Given the description of an element on the screen output the (x, y) to click on. 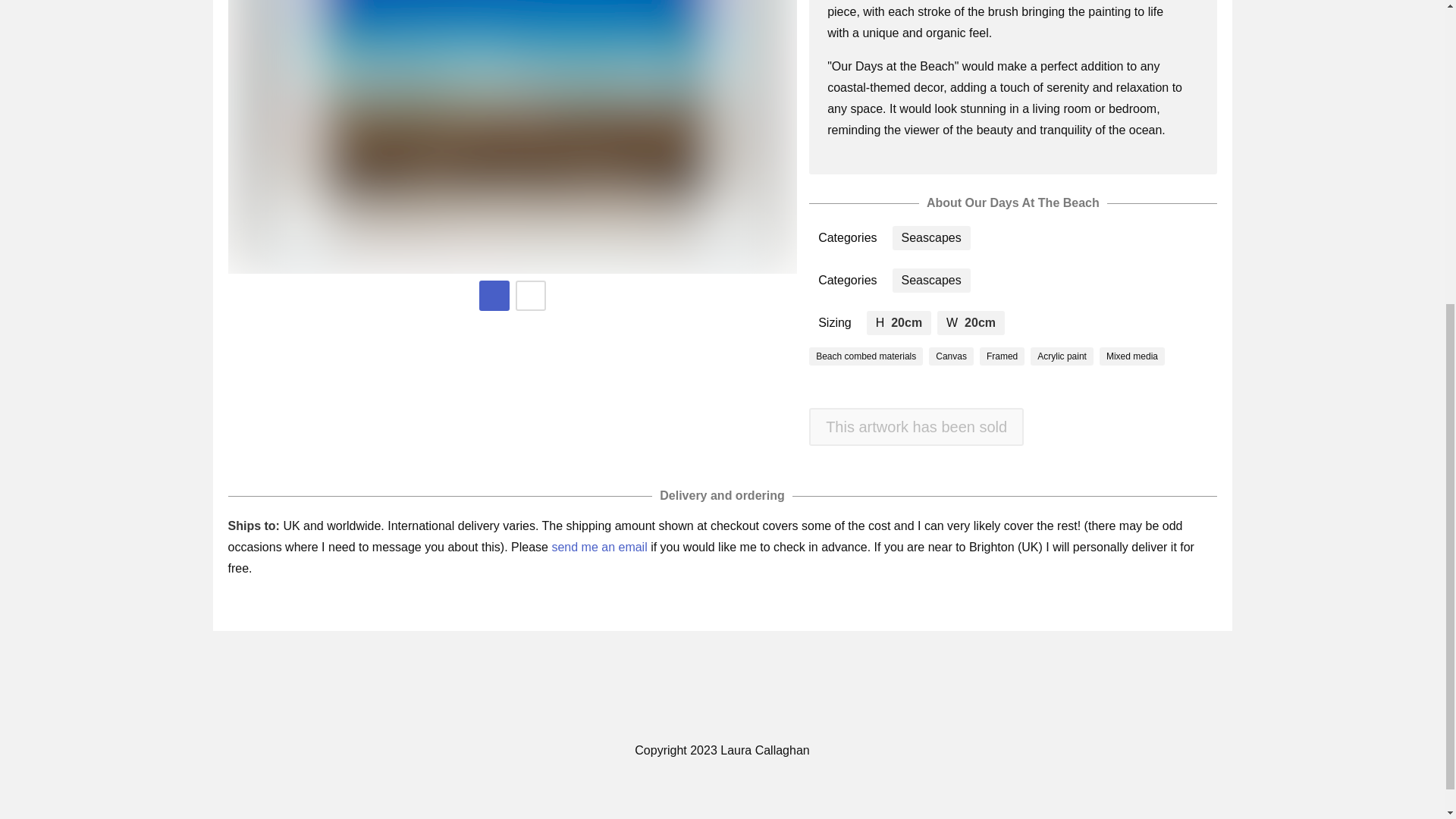
View image 2 (530, 295)
This artwork has been sold (916, 426)
View image 1 (494, 295)
send me an email (598, 546)
